Given the description of an element on the screen output the (x, y) to click on. 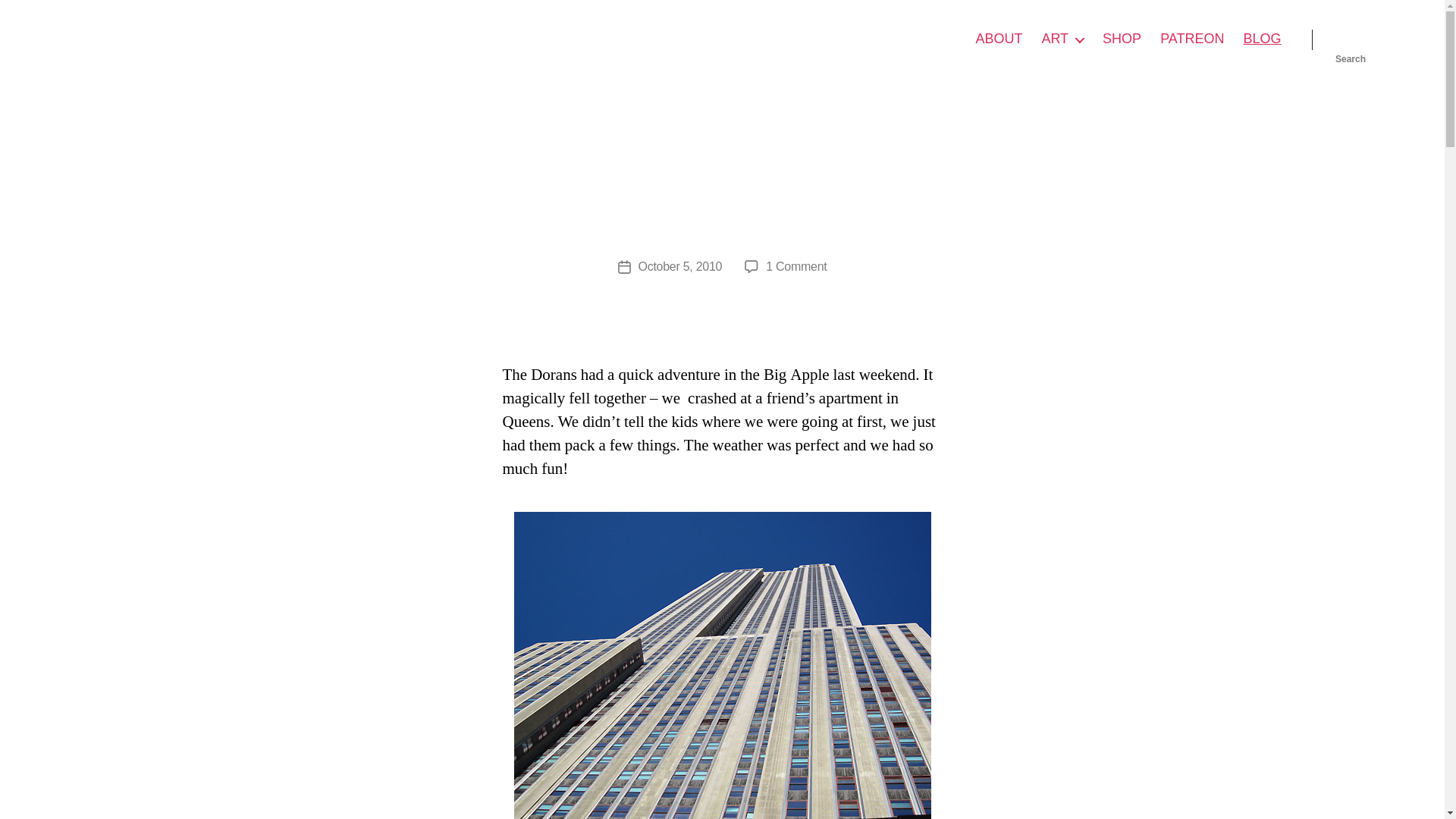
Search (1350, 39)
ABOUT (796, 266)
empire (998, 39)
SHOP (722, 665)
ART (1121, 39)
BLOG (1062, 39)
October 5, 2010 (1262, 39)
PATREON (680, 266)
JIM DORAN (1192, 39)
